Given the description of an element on the screen output the (x, y) to click on. 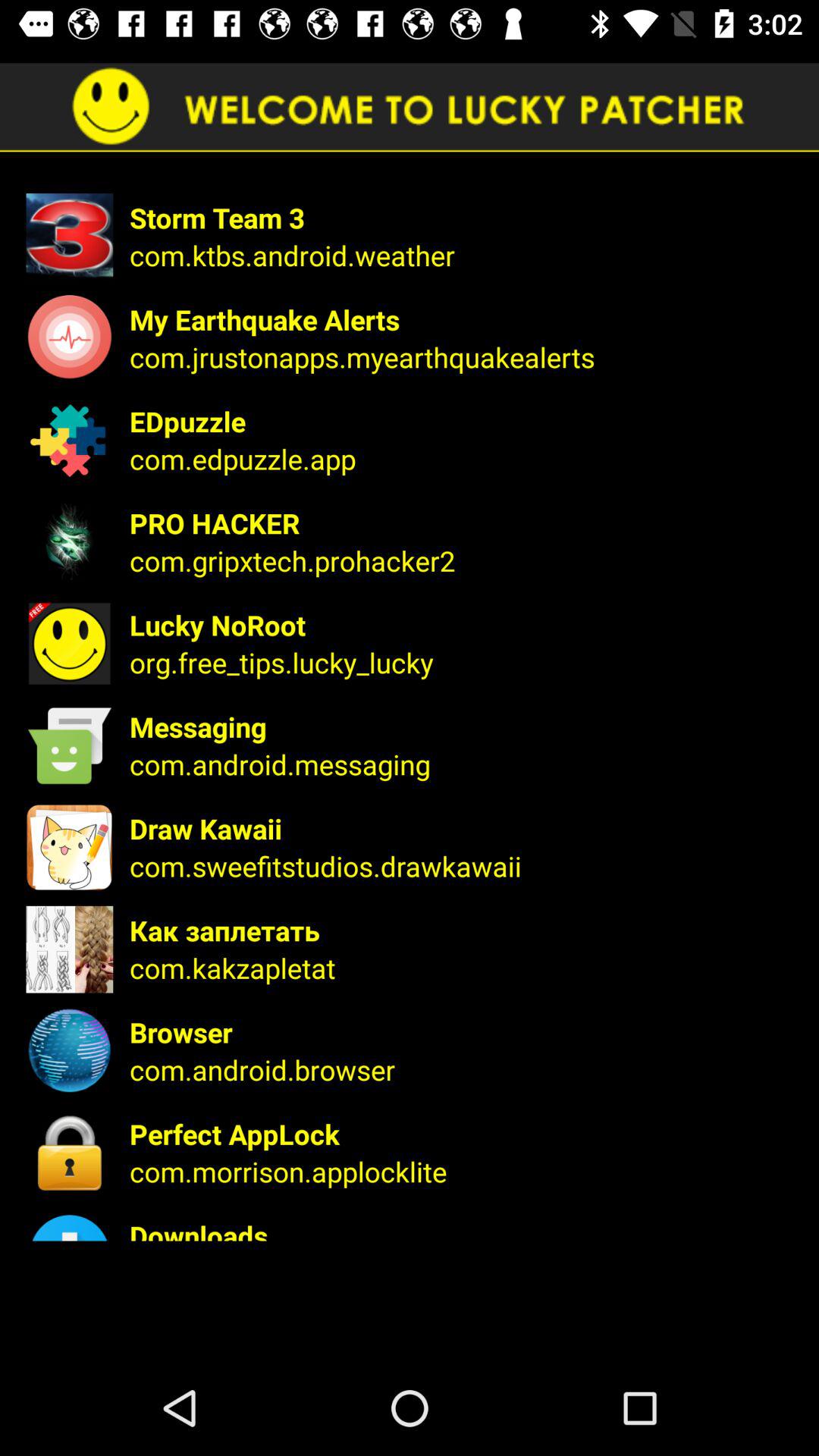
swipe to lucky noroot app (464, 624)
